Given the description of an element on the screen output the (x, y) to click on. 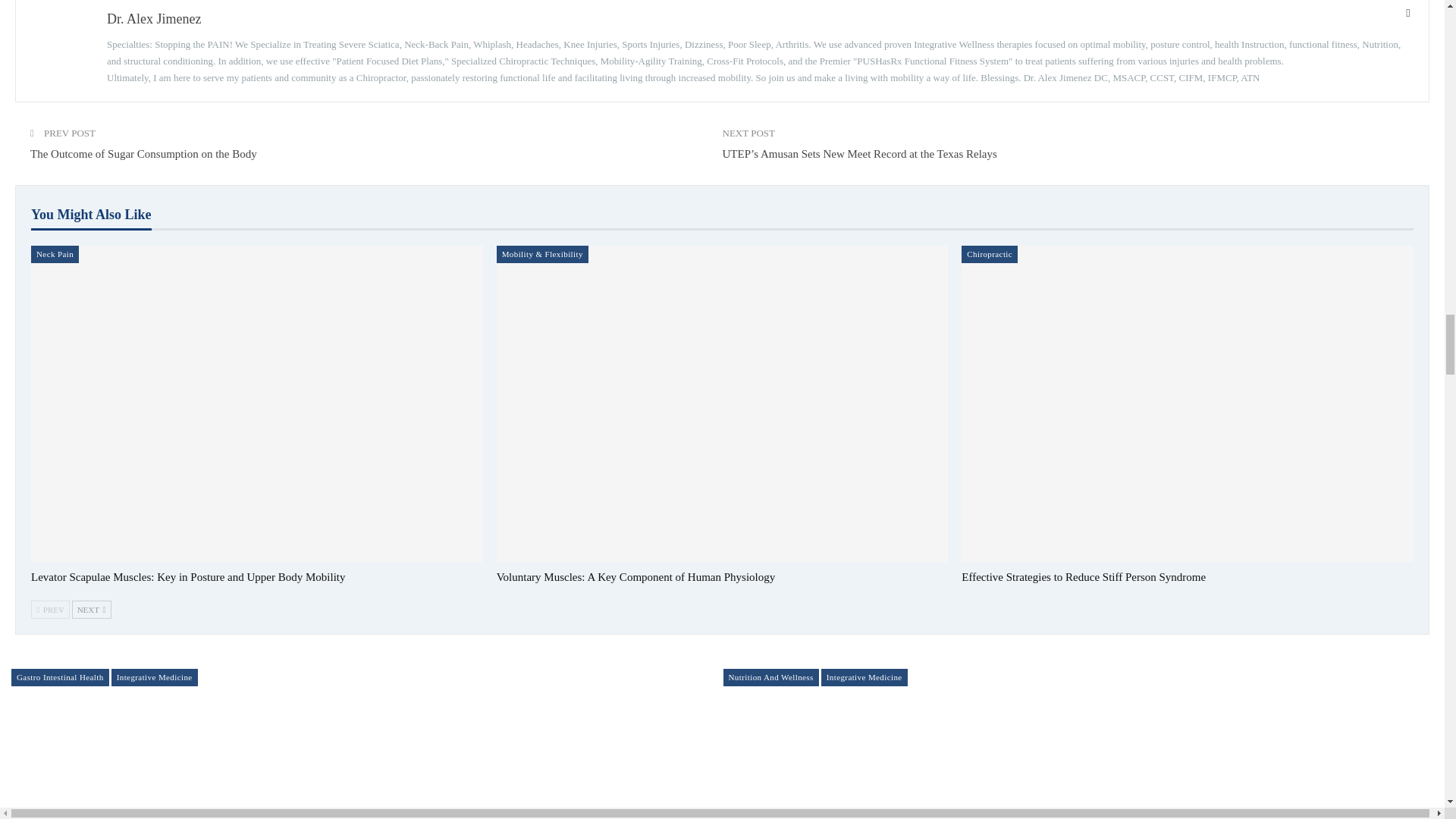
Effective Strategies to Reduce Stiff Person Syndrome (1082, 576)
Voluntary Muscles: A Key Component of Human Physiology (636, 576)
